Given the description of an element on the screen output the (x, y) to click on. 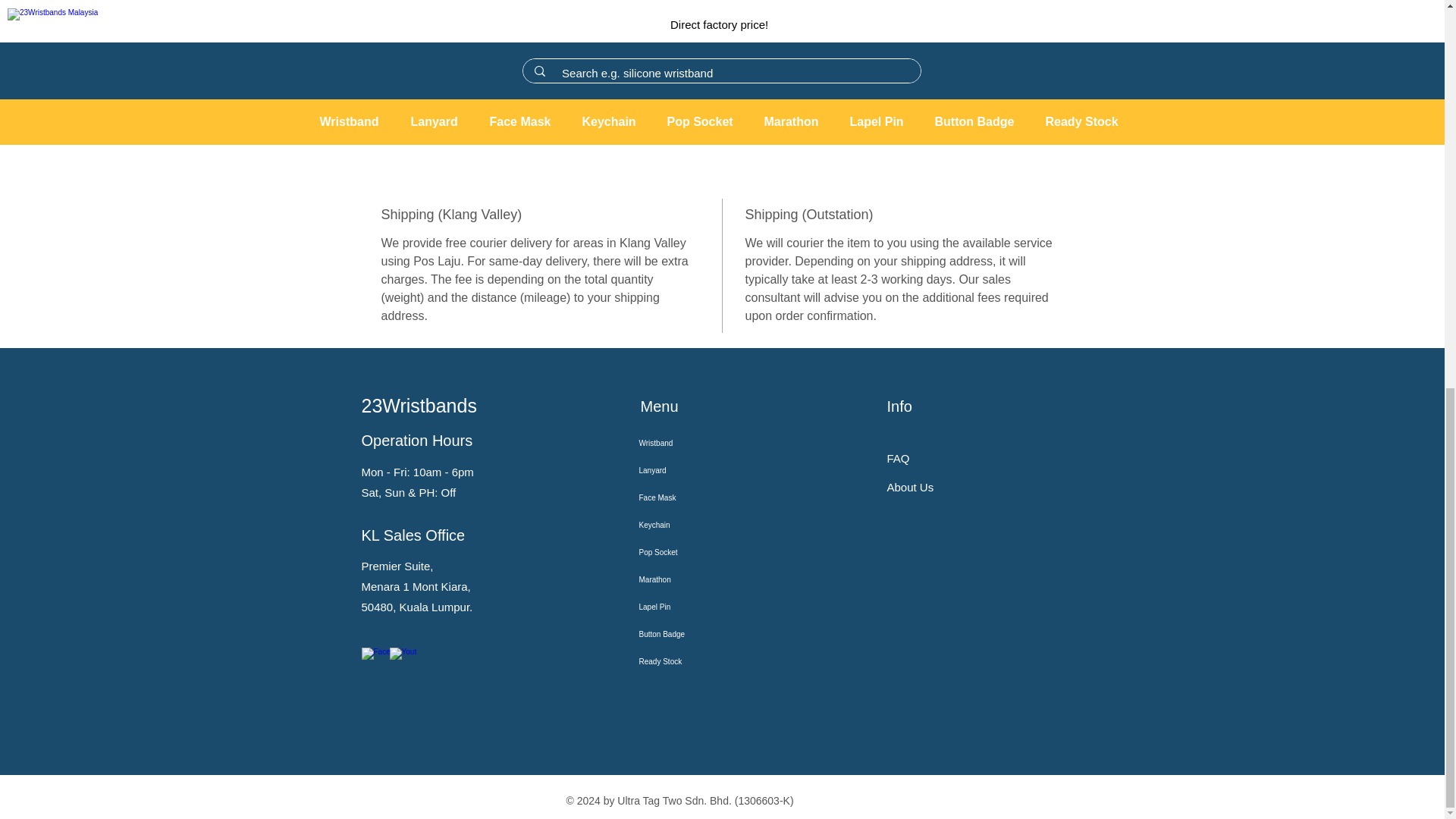
23Wristbands (418, 405)
